Given the description of an element on the screen output the (x, y) to click on. 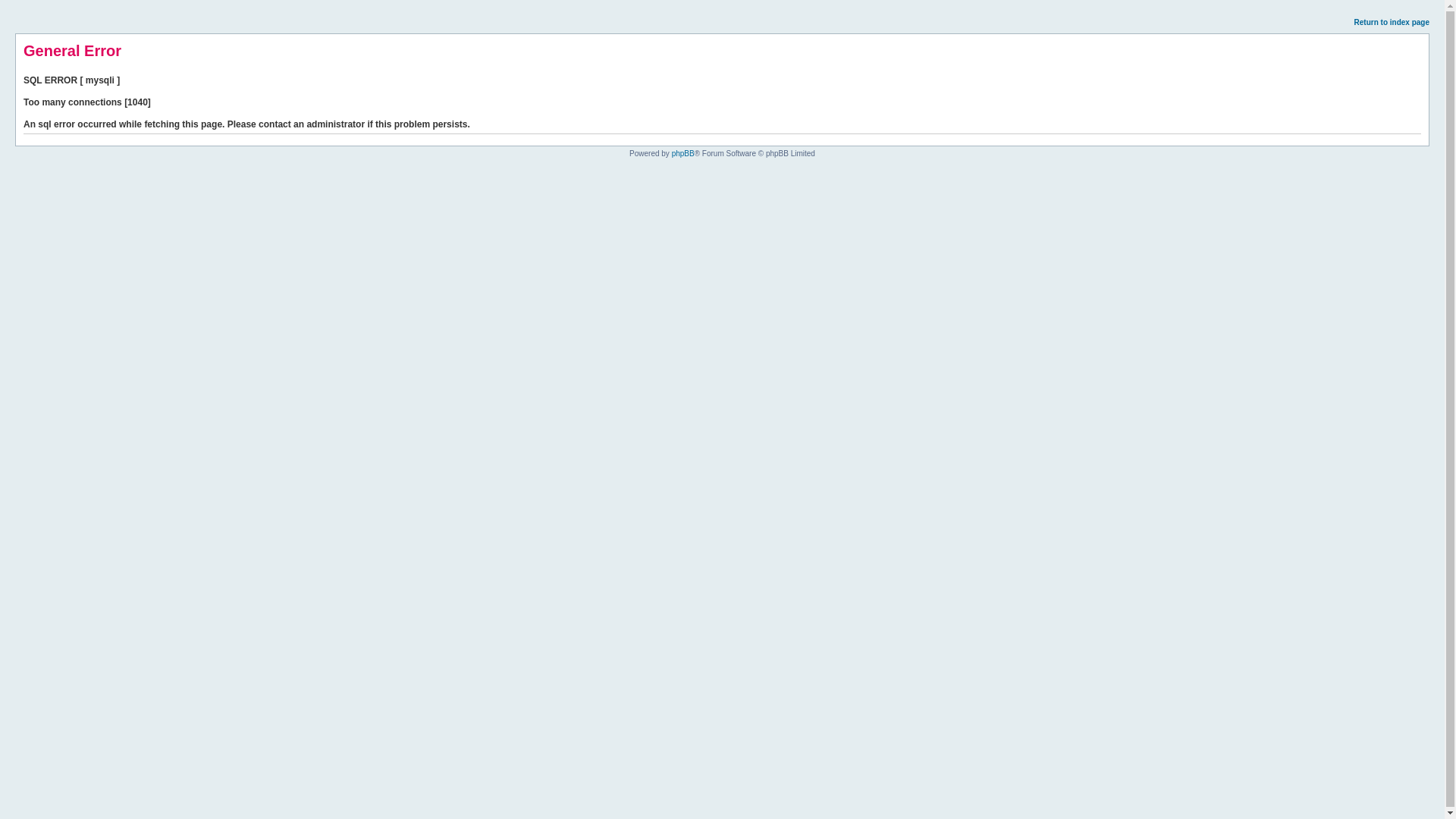
Return to index page (1391, 22)
phpBB (682, 153)
